Given the description of an element on the screen output the (x, y) to click on. 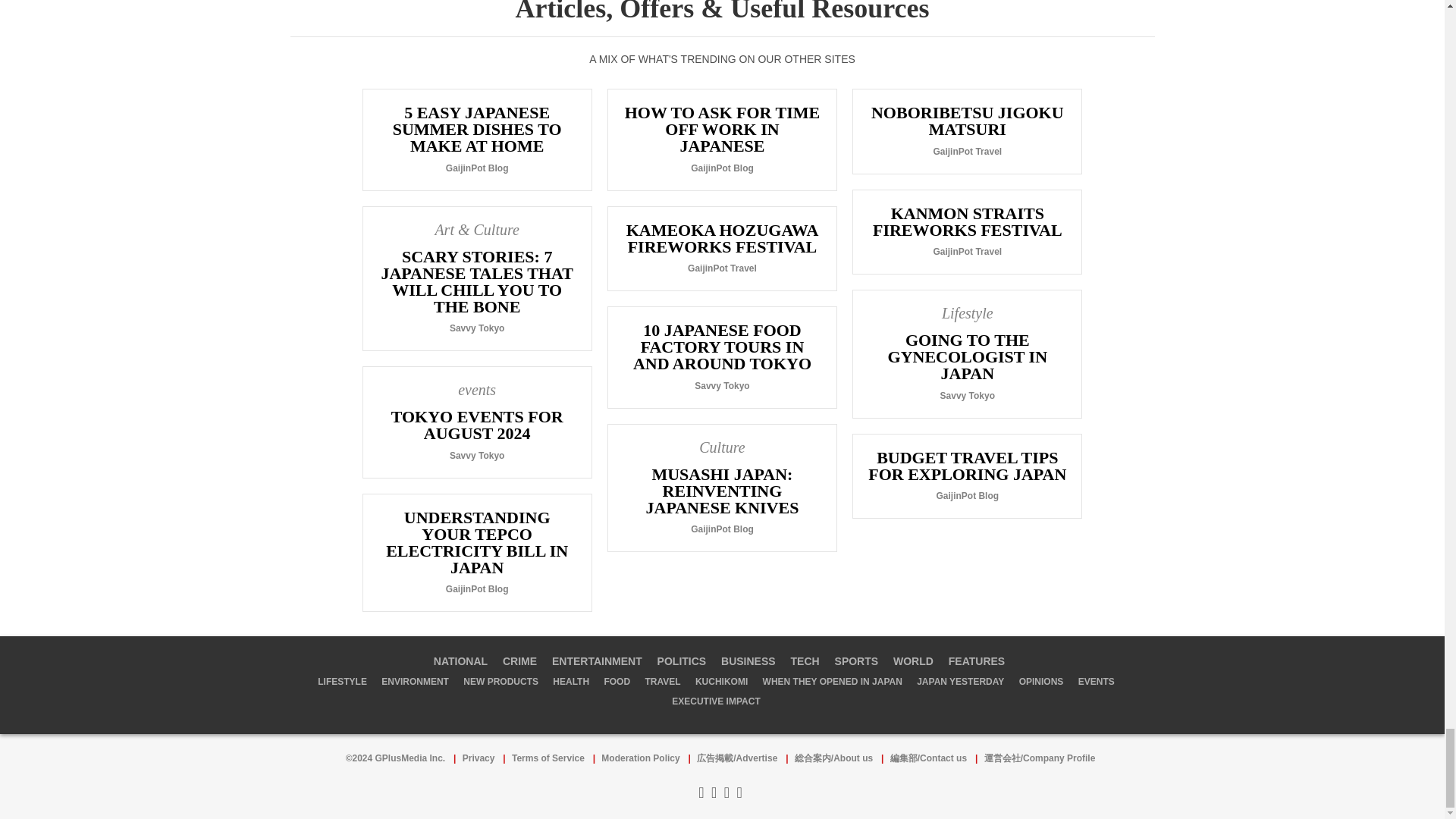
Noboribetsu Jigoku Matsuri (967, 130)
5 Easy Japanese Summer Dishes to Make at Home (476, 139)
How to Ask for Time Off Work in Japanese (721, 139)
